Given the description of an element on the screen output the (x, y) to click on. 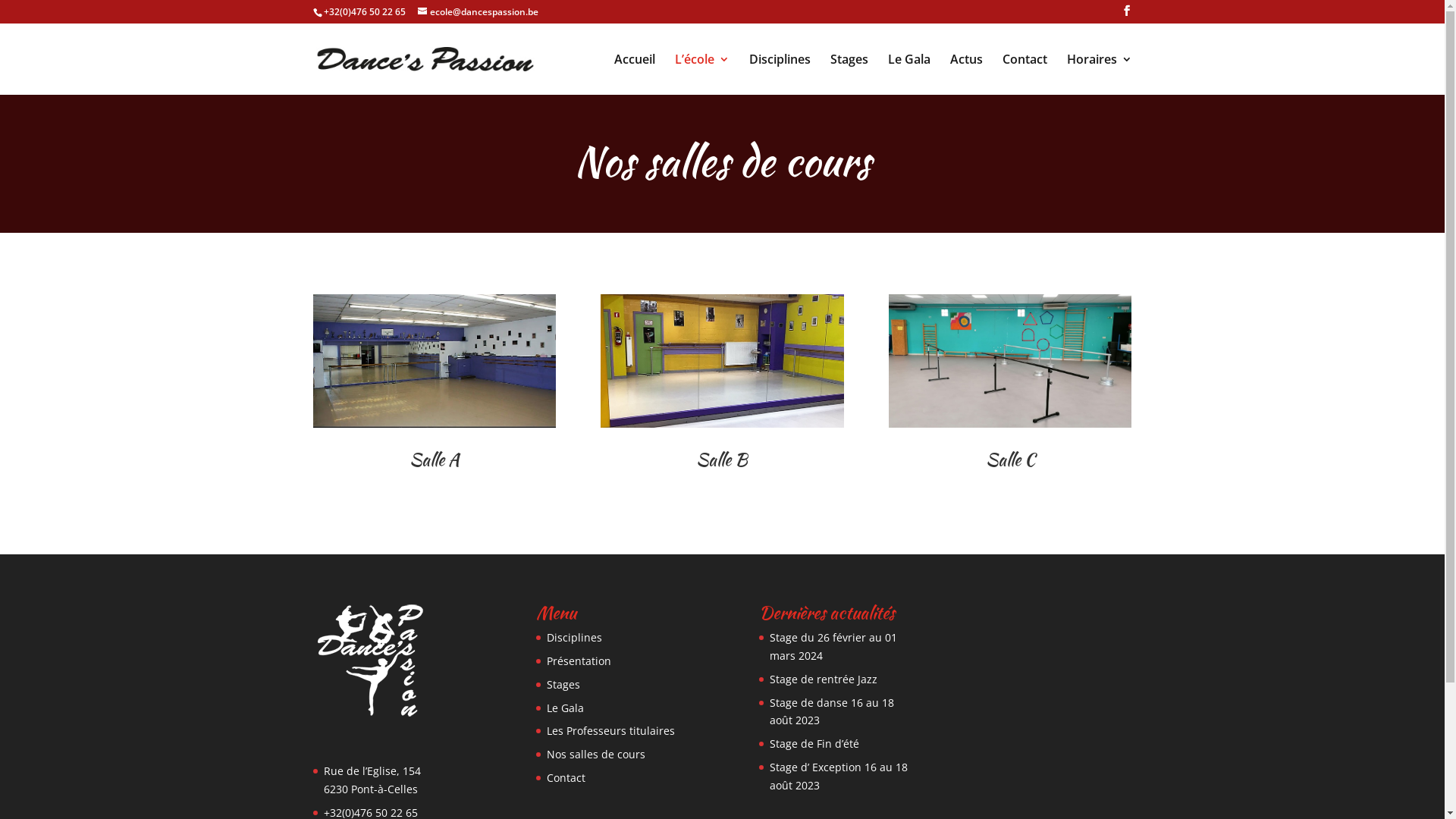
Disciplines Element type: text (779, 73)
Contact Element type: text (565, 777)
Nos salles de cours Element type: text (595, 753)
Contact Element type: text (1024, 73)
Le Gala Element type: text (564, 707)
Le Gala Element type: text (908, 73)
Accueil Element type: text (634, 73)
Actus Element type: text (965, 73)
Horaires Element type: text (1098, 73)
Disciplines Element type: text (574, 637)
Salle-C Notre Dame Element type: hover (1009, 360)
Stages Element type: text (563, 684)
Stages Element type: text (848, 73)
Les Professeurs titulaires Element type: text (610, 730)
ecole@dancespassion.be Element type: text (477, 11)
